Given the description of an element on the screen output the (x, y) to click on. 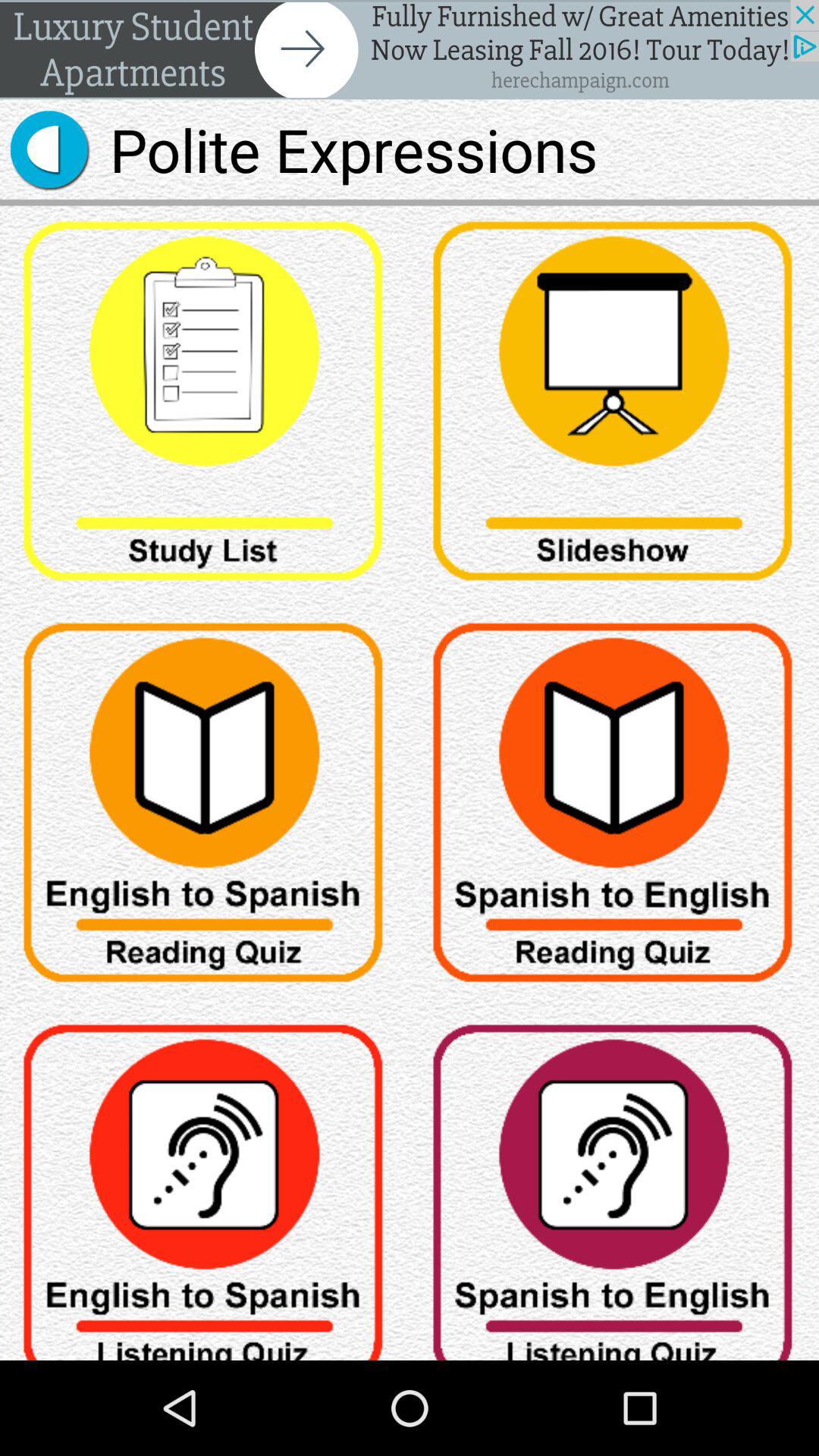
choose english to spanish (204, 1184)
